Given the description of an element on the screen output the (x, y) to click on. 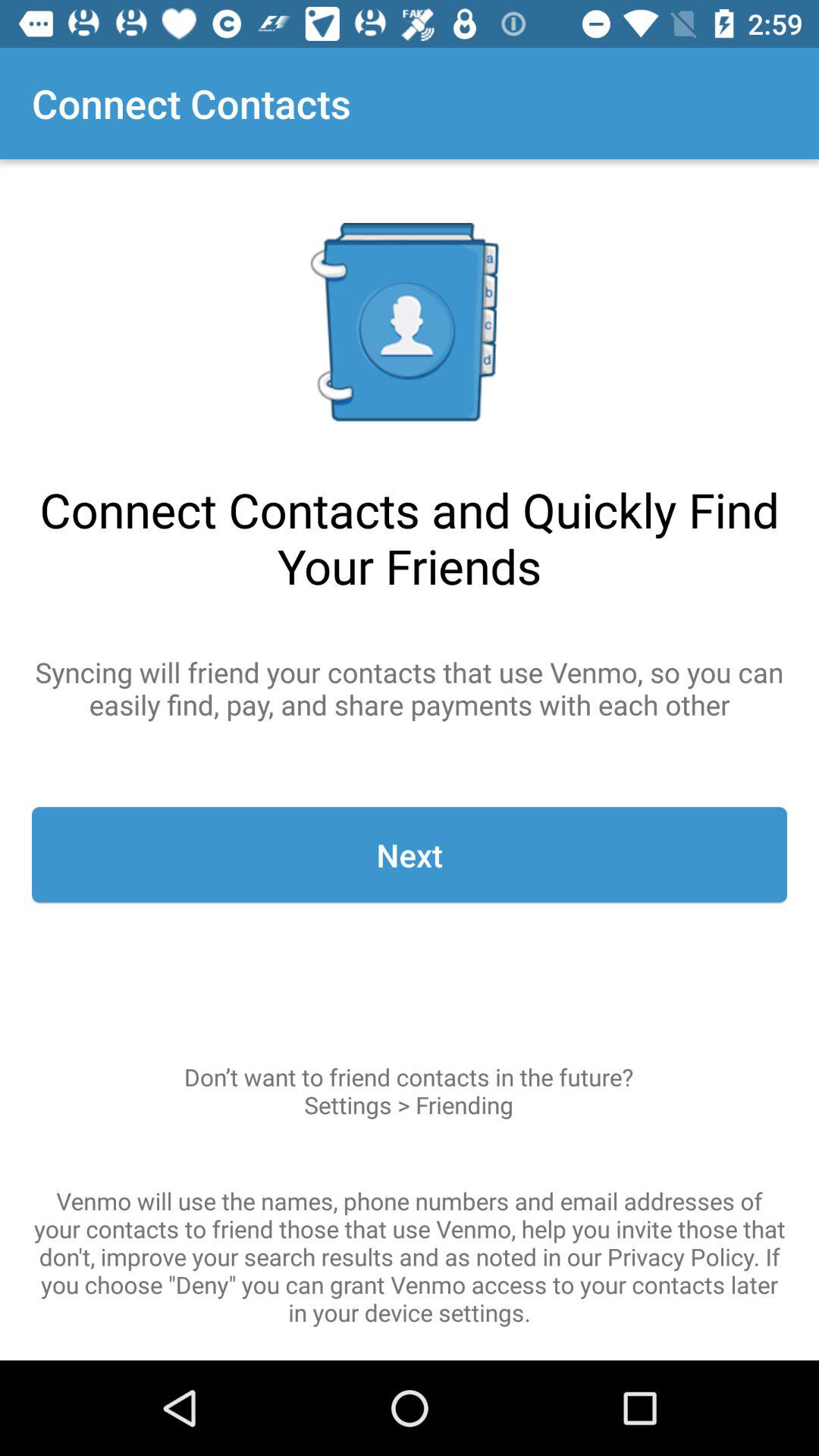
flip to next icon (409, 854)
